Given the description of an element on the screen output the (x, y) to click on. 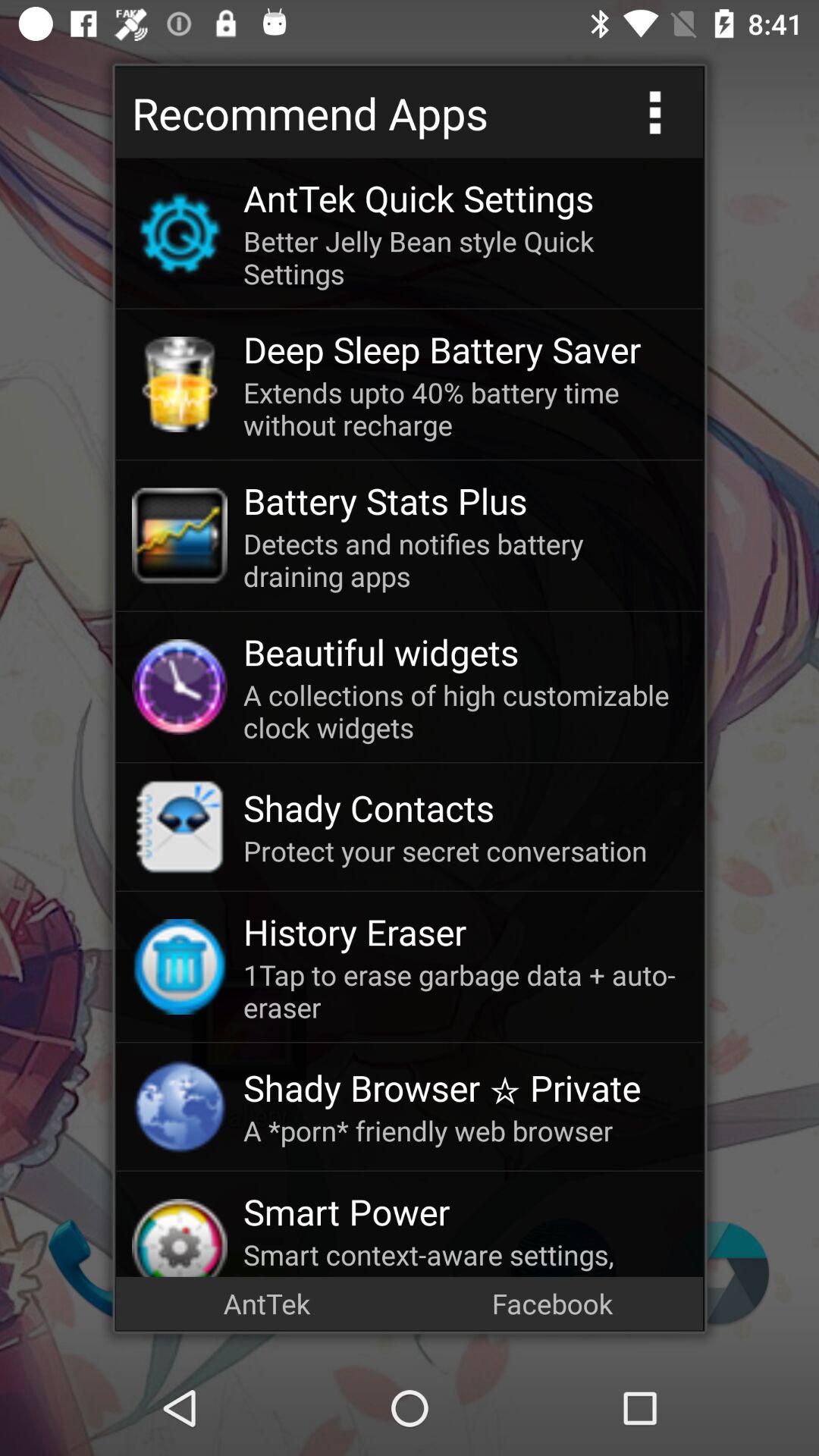
select icon at the bottom right corner (552, 1303)
